Given the description of an element on the screen output the (x, y) to click on. 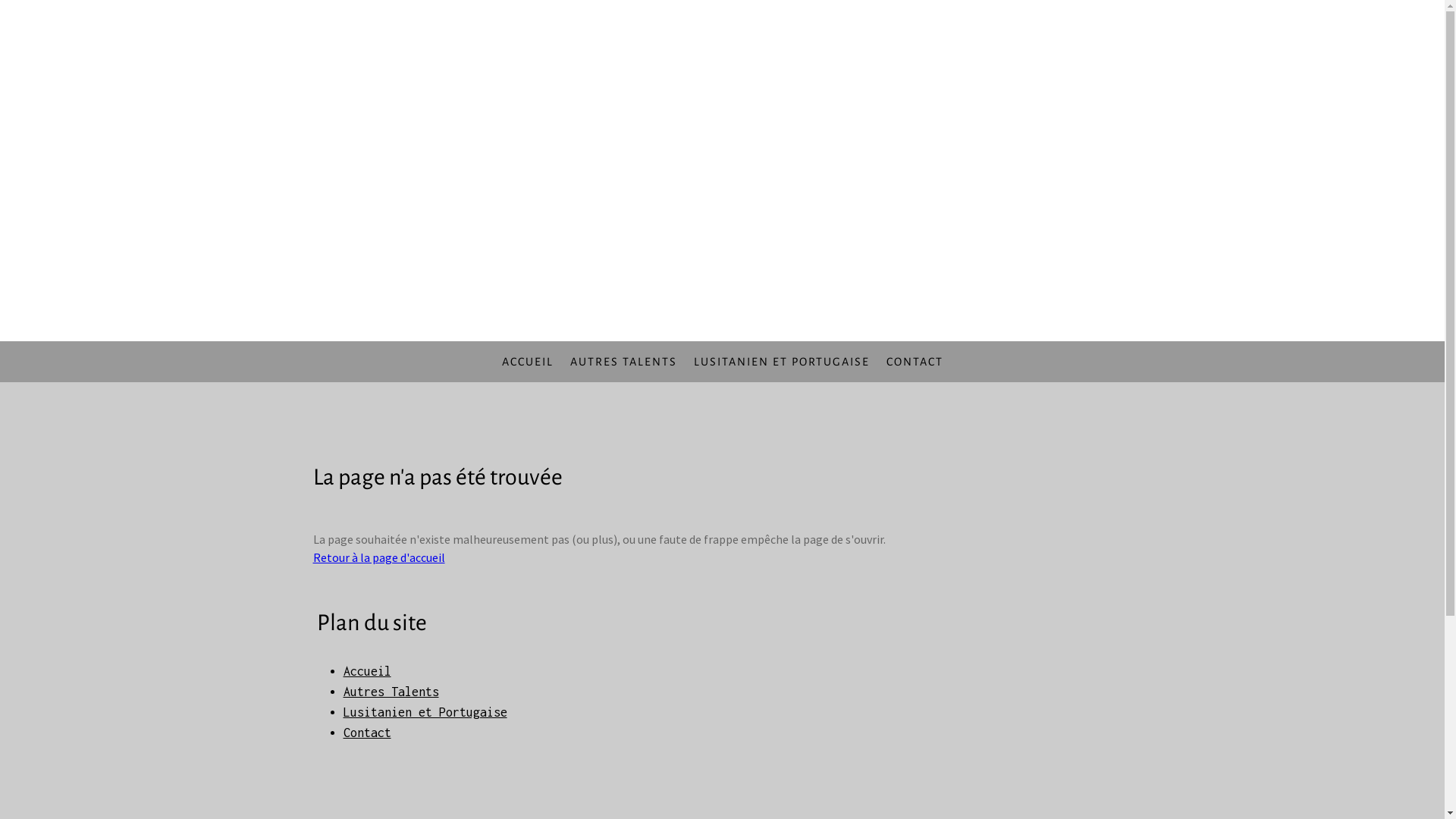
ACCUEIL Element type: text (526, 361)
Lusitanien et Portugaise Element type: text (424, 711)
Autres Talents Element type: text (390, 691)
Accueil Element type: text (366, 670)
CONTACT Element type: text (914, 361)
AUTRES TALENTS Element type: text (622, 361)
Contact Element type: text (366, 732)
LUSITANIEN ET PORTUGAISE Element type: text (781, 361)
